Given the description of an element on the screen output the (x, y) to click on. 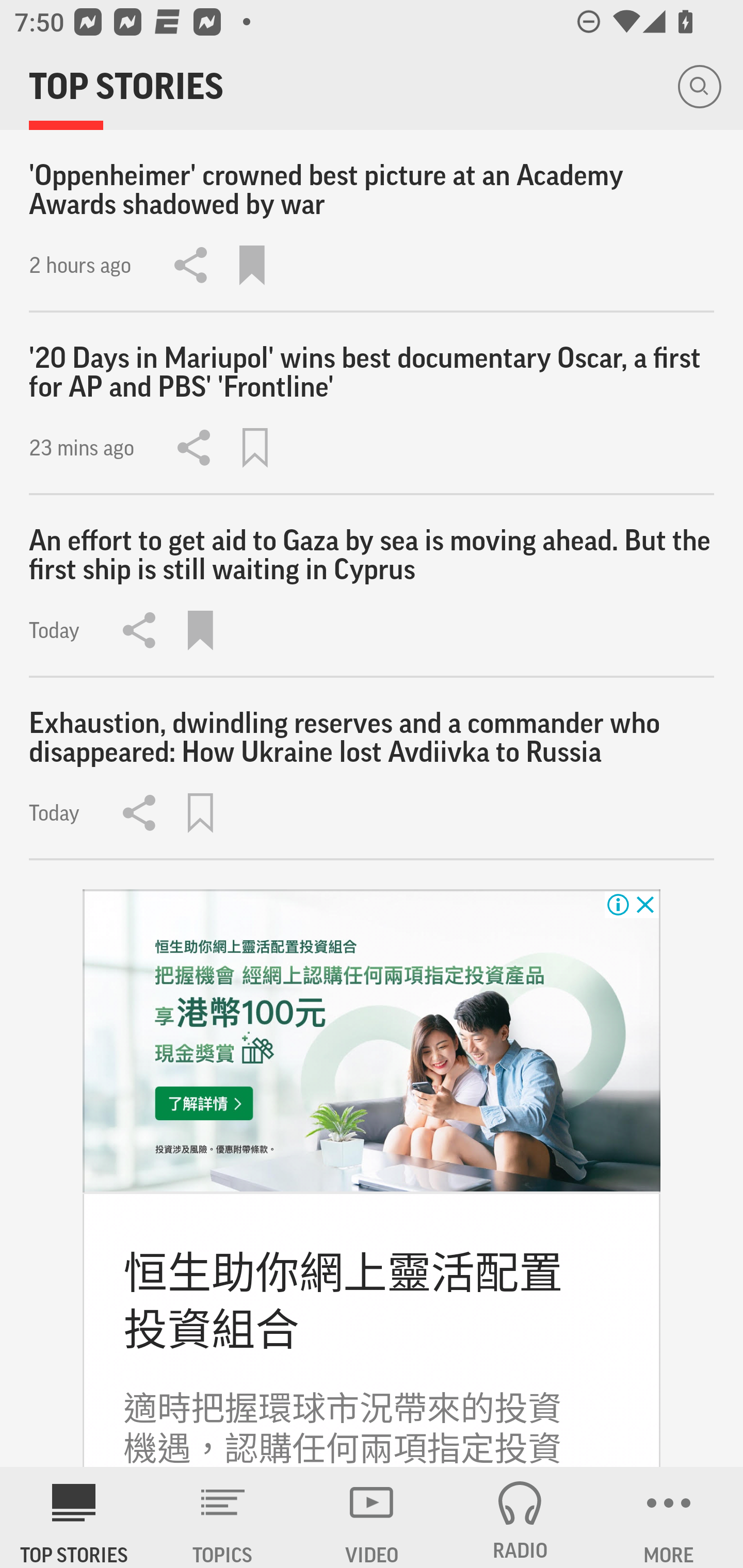
B31268930 (371, 1041)
恒生助你網上靈活配置 投資組合 恒生助你網上靈活配置 投資組合 (342, 1301)
AP News TOP STORIES (74, 1517)
TOPICS (222, 1517)
VIDEO (371, 1517)
RADIO (519, 1517)
MORE (668, 1517)
